Given the description of an element on the screen output the (x, y) to click on. 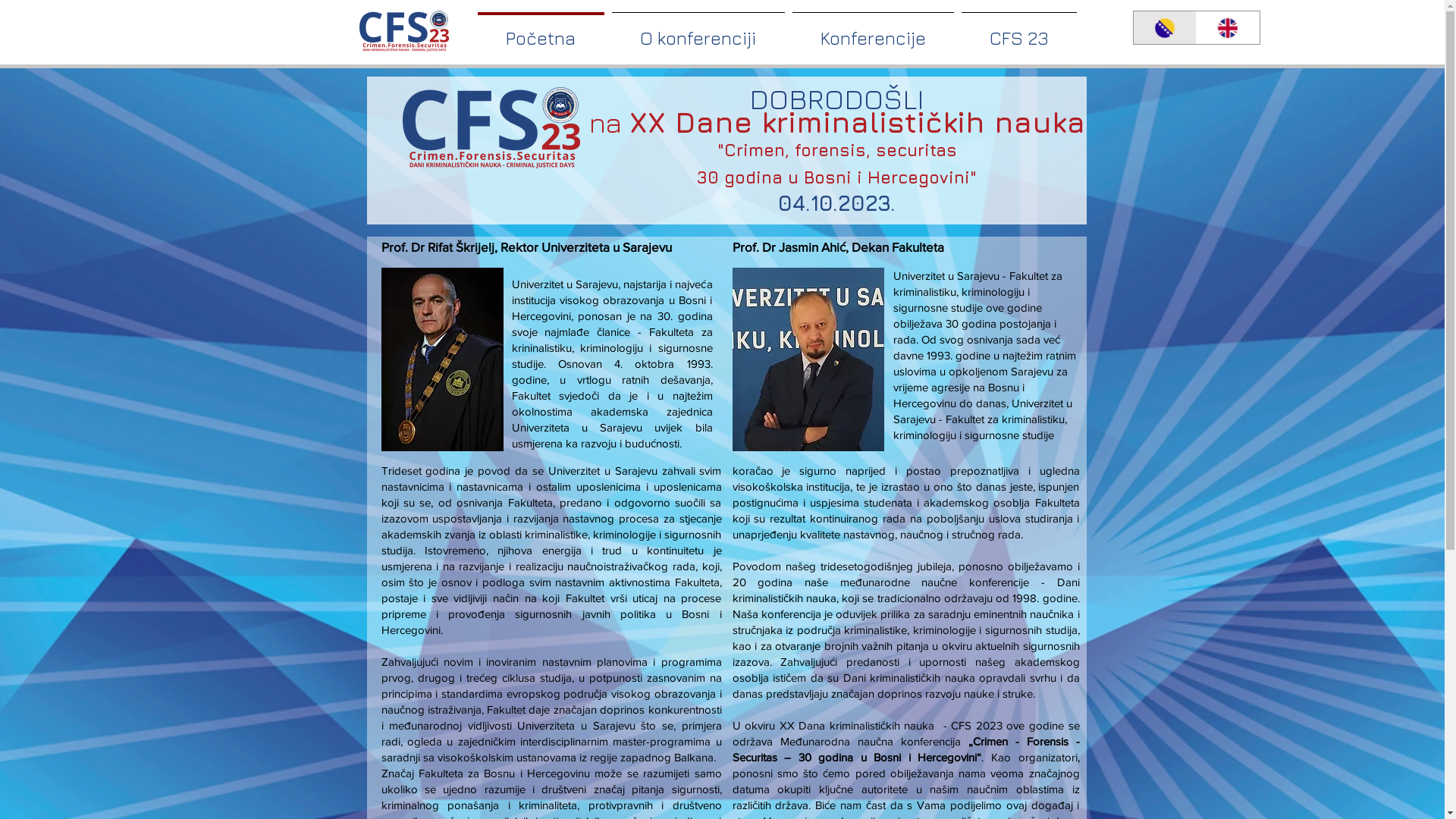
CFS 23 Element type: text (1018, 31)
O konferenciji Element type: text (698, 31)
